Given the description of an element on the screen output the (x, y) to click on. 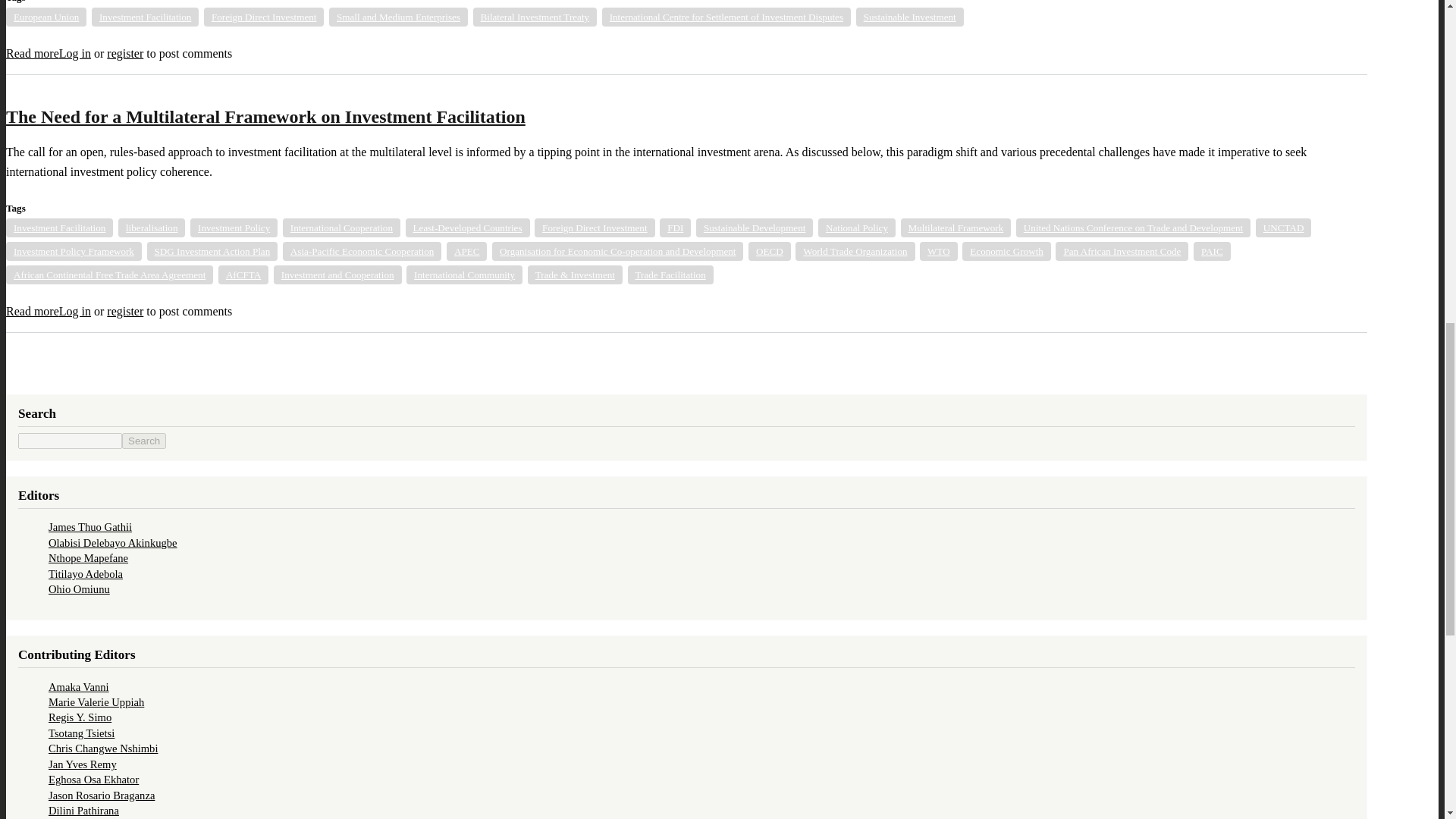
Investment Facilitation (144, 16)
Small and Medium Enterprises (398, 16)
Bilateral Investment Treaty (534, 16)
European Union (45, 16)
International Centre for Settlement of Investment Disputes (726, 16)
Foreign Direct Investment (263, 16)
Enter the terms you wish to search for. (69, 440)
